Given the description of an element on the screen output the (x, y) to click on. 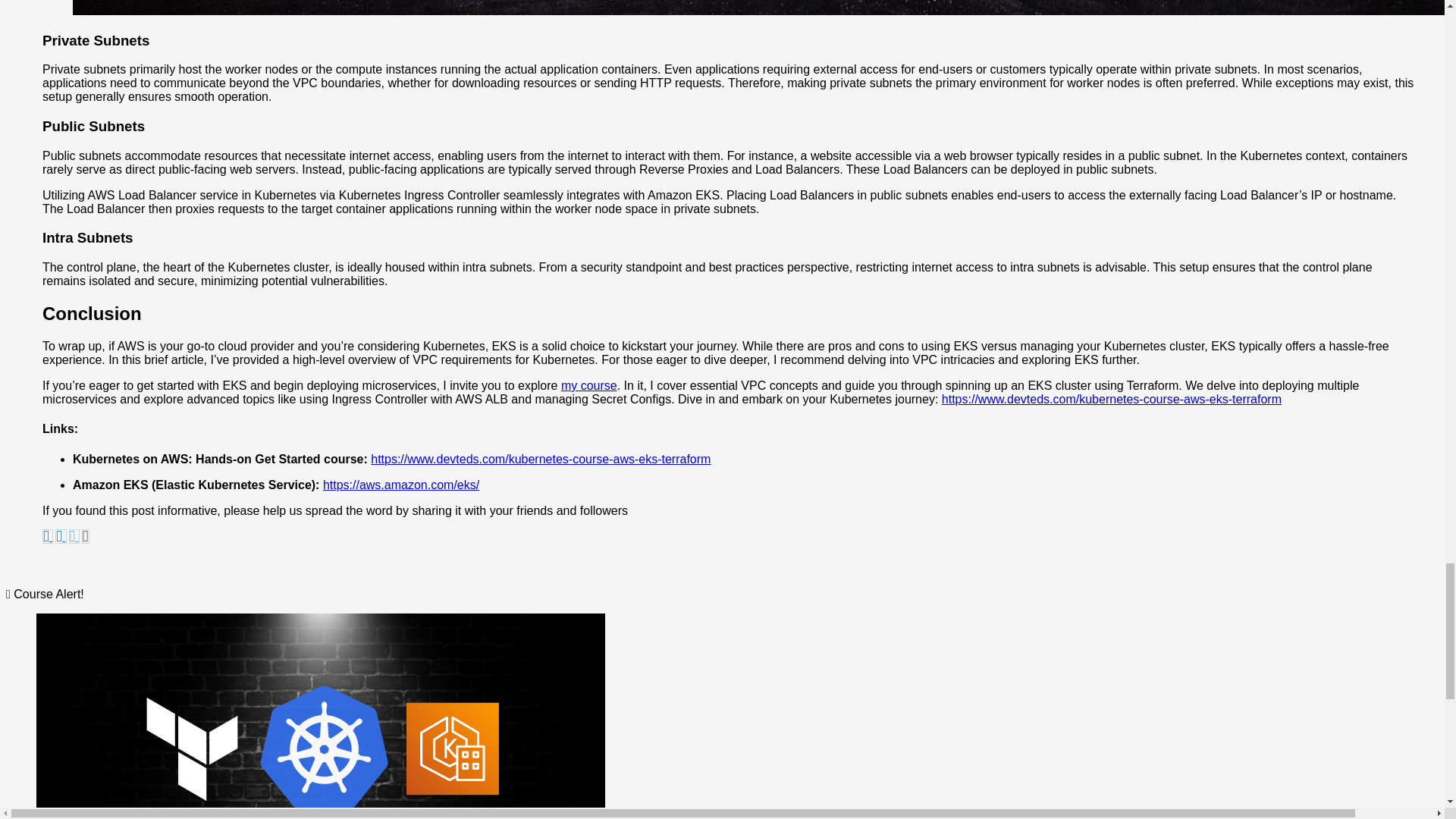
my course (588, 385)
